Given the description of an element on the screen output the (x, y) to click on. 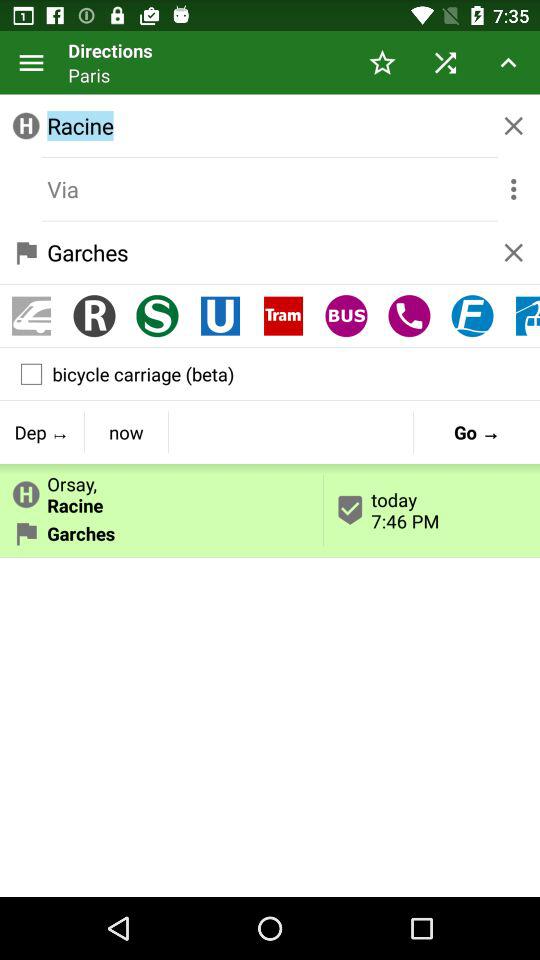
jump until the bicycle carriage (beta) (269, 374)
